Given the description of an element on the screen output the (x, y) to click on. 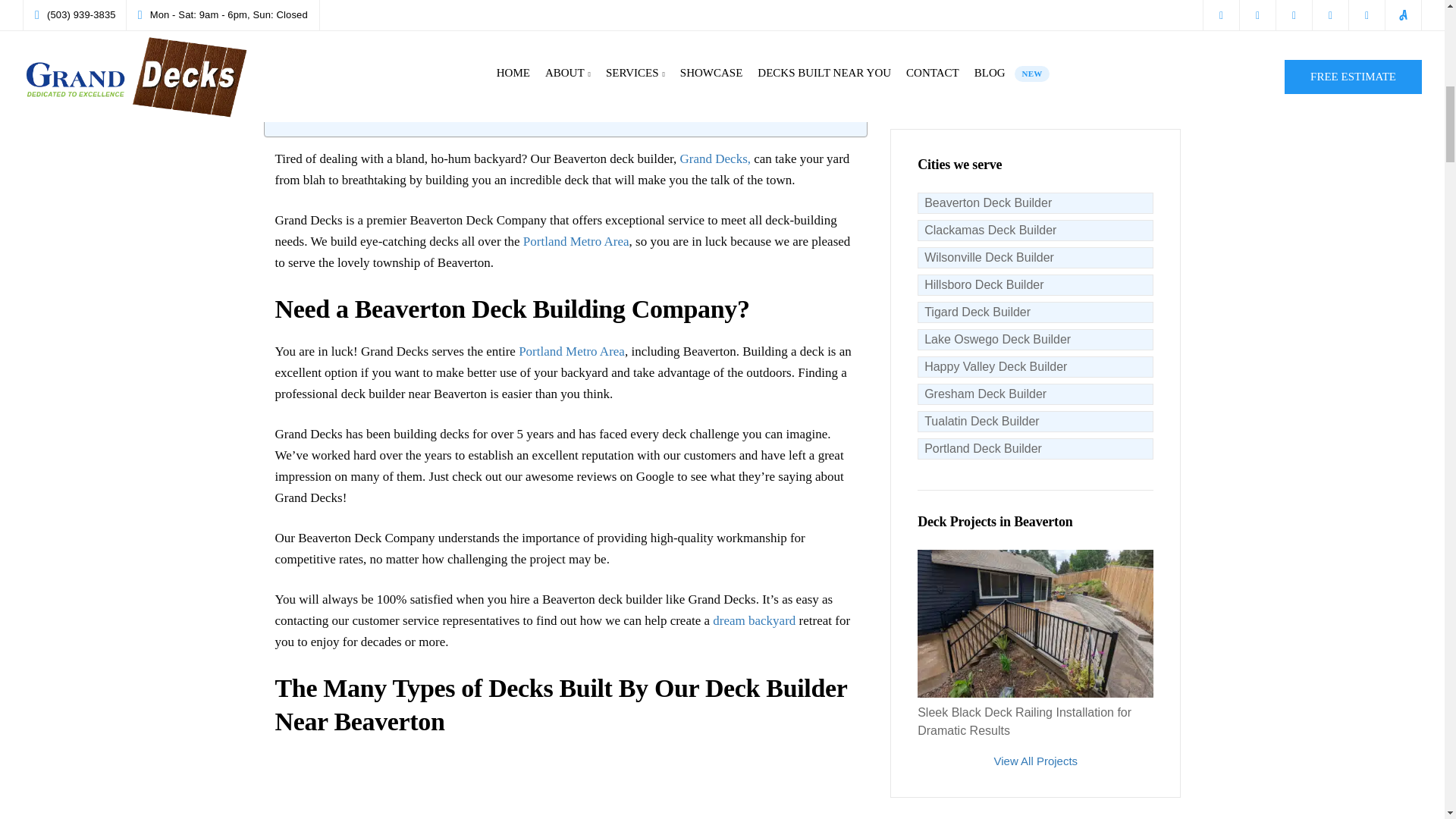
Grand Decks, (714, 158)
Need a Beaverton Deck Building Company? (382, 6)
Why Hiring A Beaverton Fence Builder is a Superior Choice (420, 72)
Why Use Our Expert Beaverton Fencing And Decking Services? (432, 94)
Grand Decks: First-class Beaverton Deck Builder (394, 117)
Portland Metro Area (575, 241)
Portland Metro Area (571, 350)
Why Use Our Expert Beaverton Fencing And Decking Services? (432, 94)
dream backyard (753, 620)
